Given the description of an element on the screen output the (x, y) to click on. 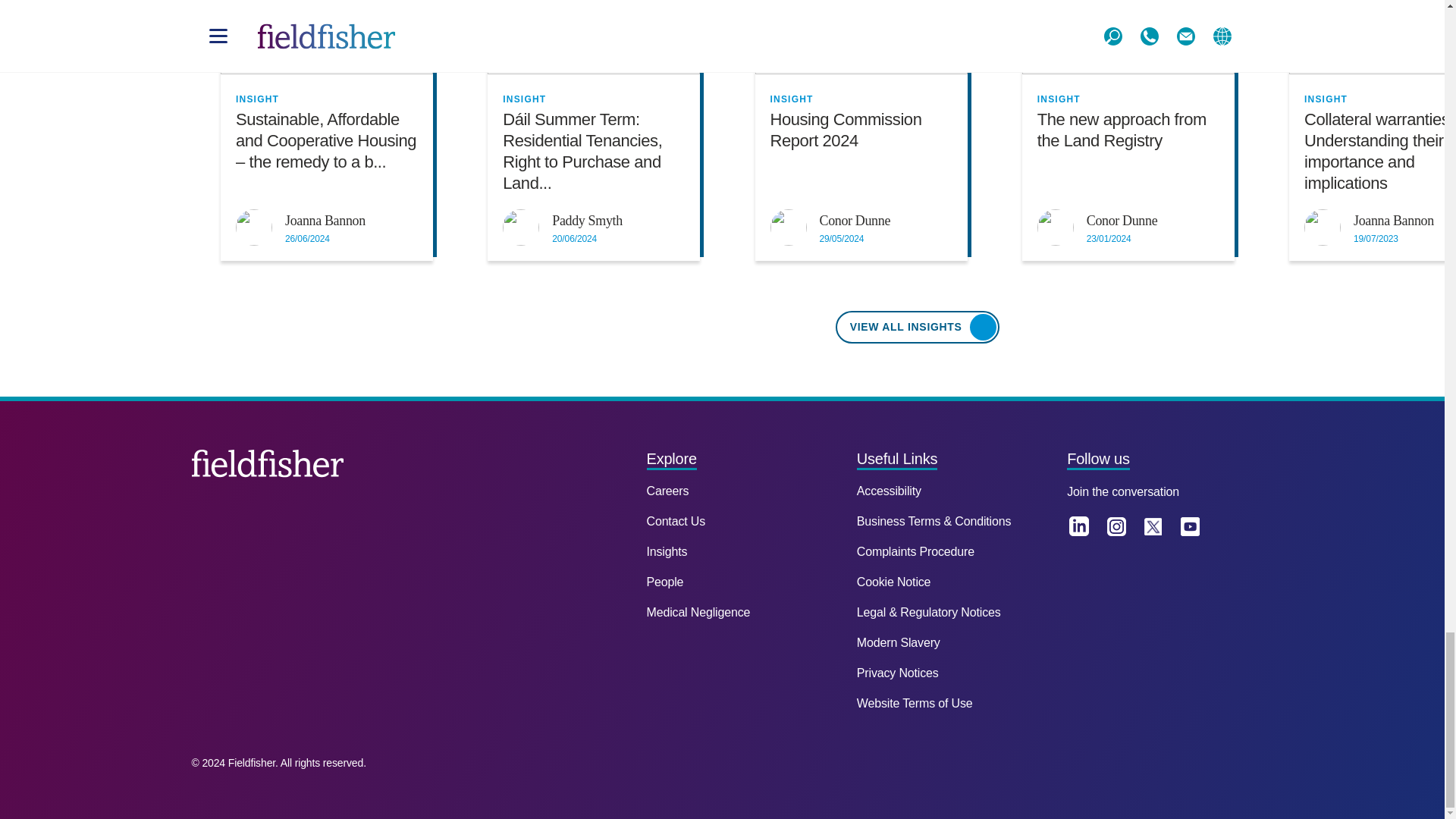
Housing Commission Report 2024 (860, 37)
The new approach from the Land Registry (1128, 37)
